Given the description of an element on the screen output the (x, y) to click on. 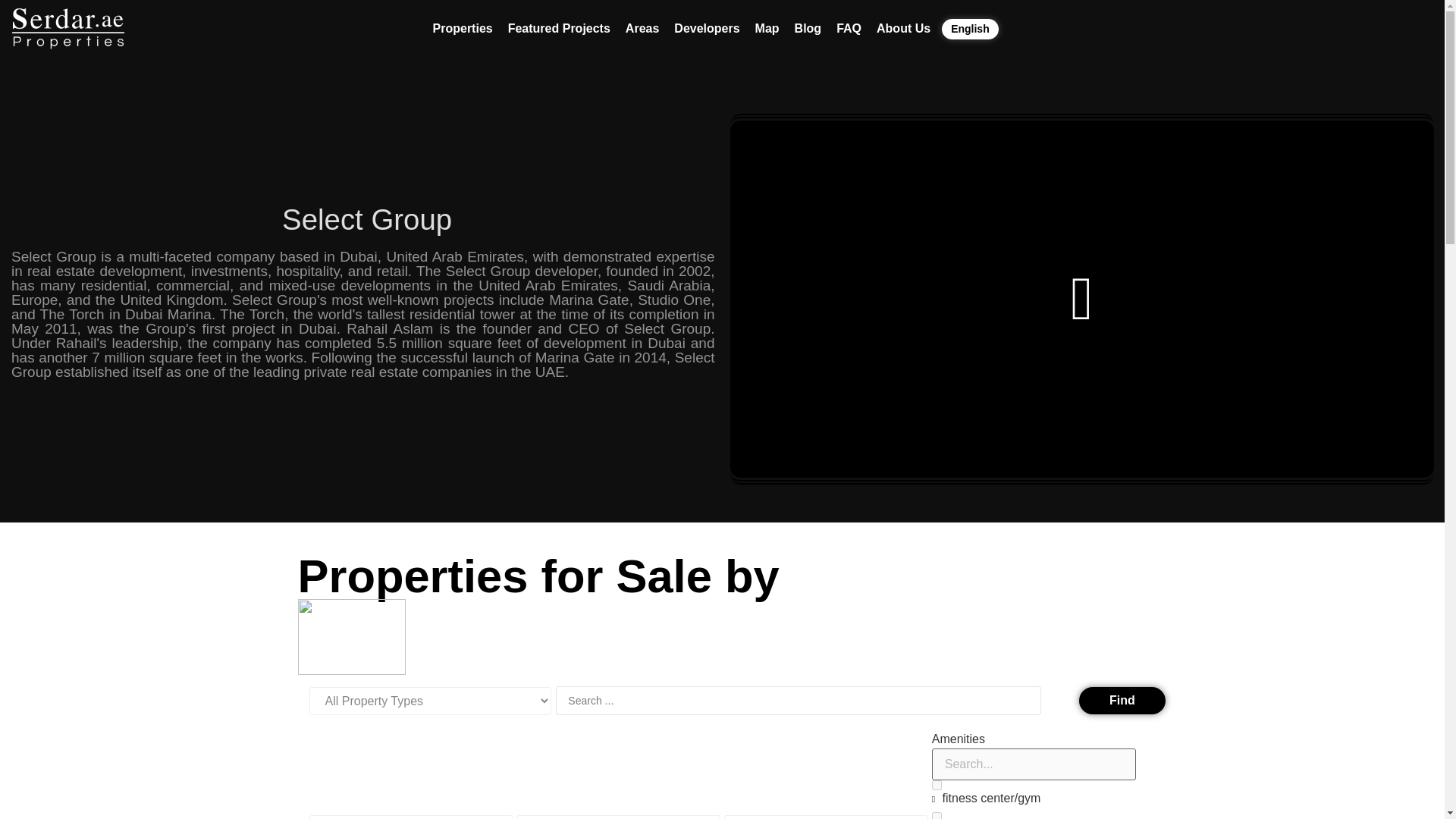
Areas (642, 28)
Properties (462, 28)
Featured Projects (559, 28)
